Given the description of an element on the screen output the (x, y) to click on. 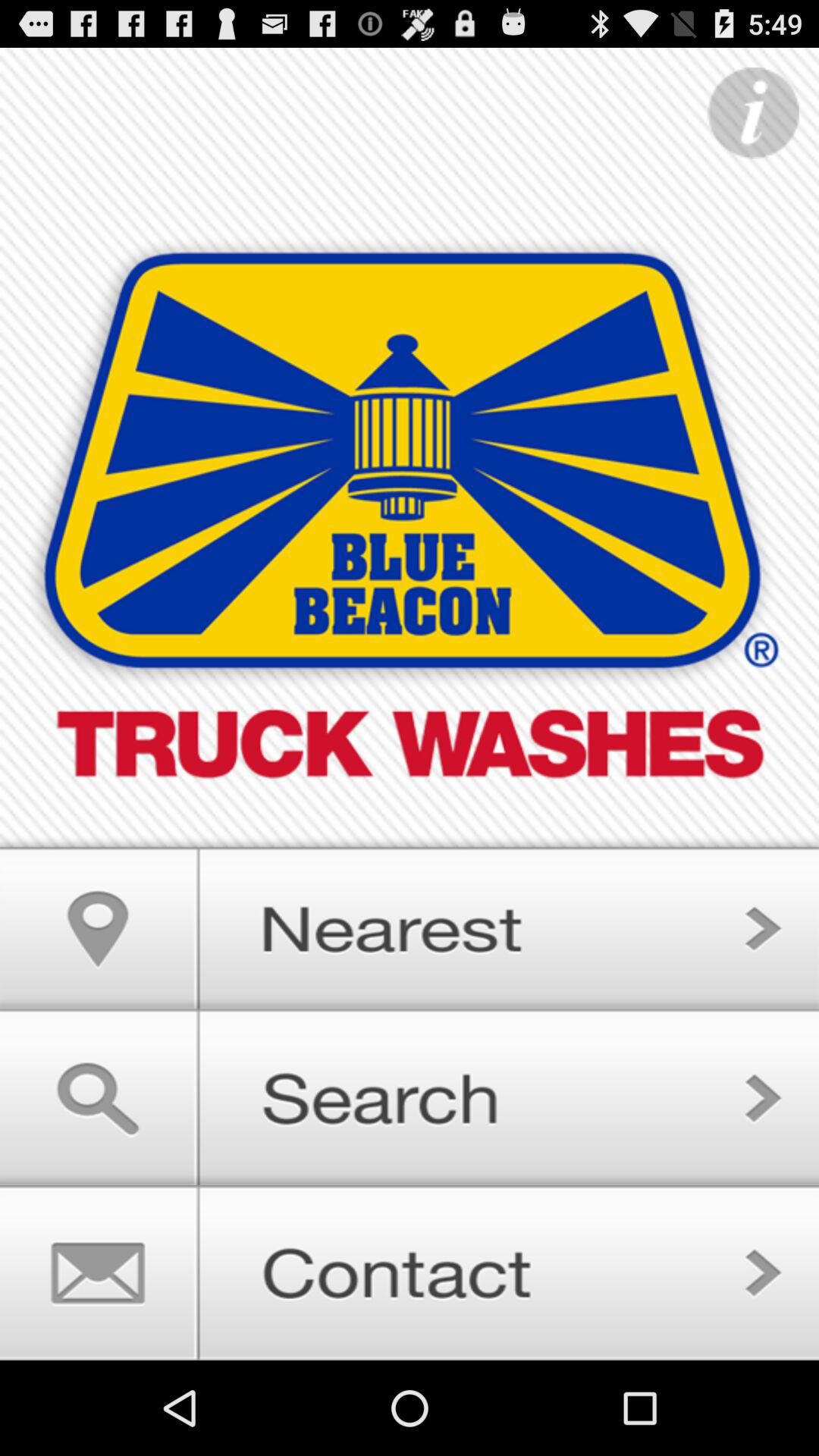
contact (409, 1272)
